Given the description of an element on the screen output the (x, y) to click on. 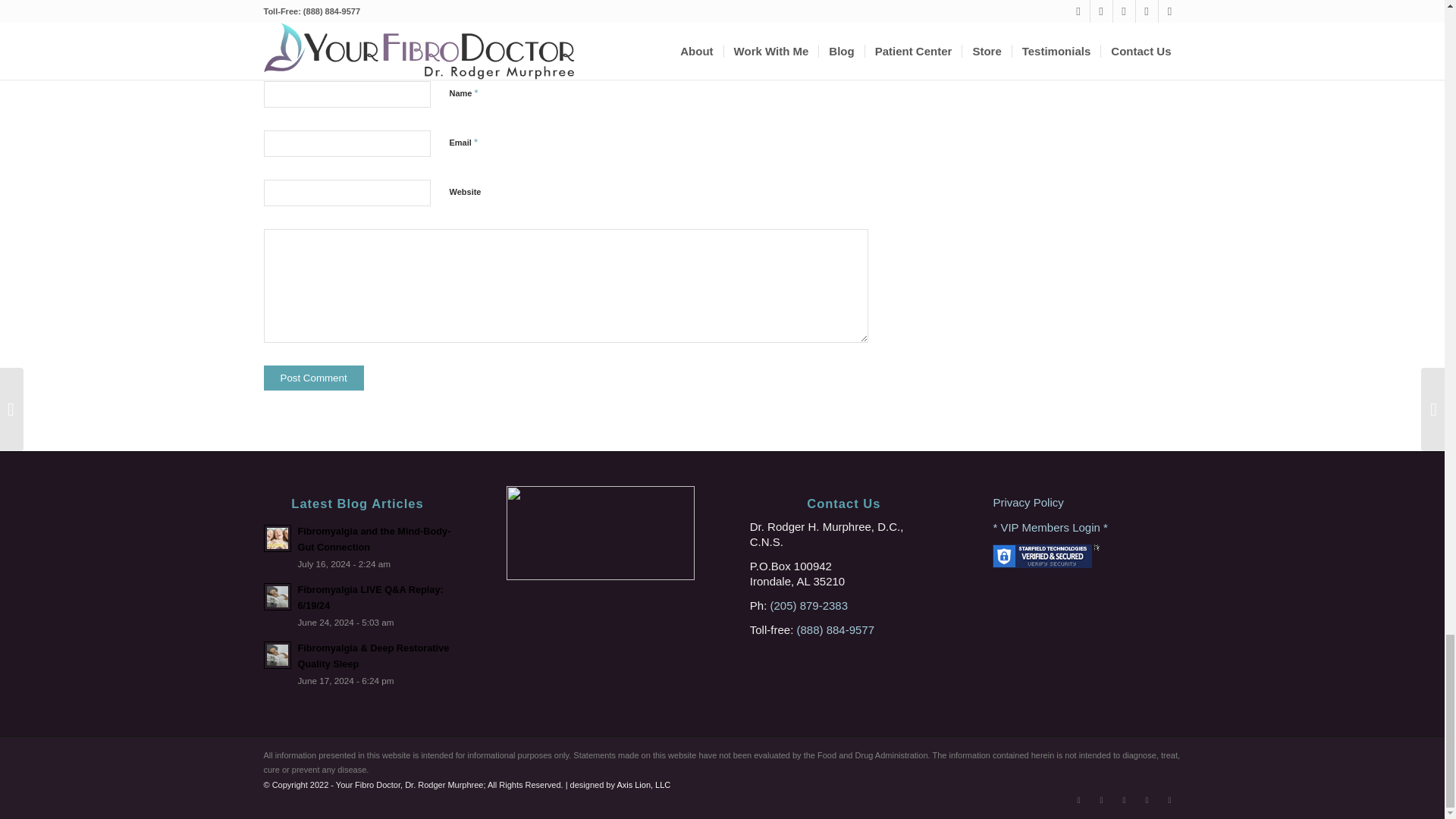
Post Comment (313, 377)
